Given the description of an element on the screen output the (x, y) to click on. 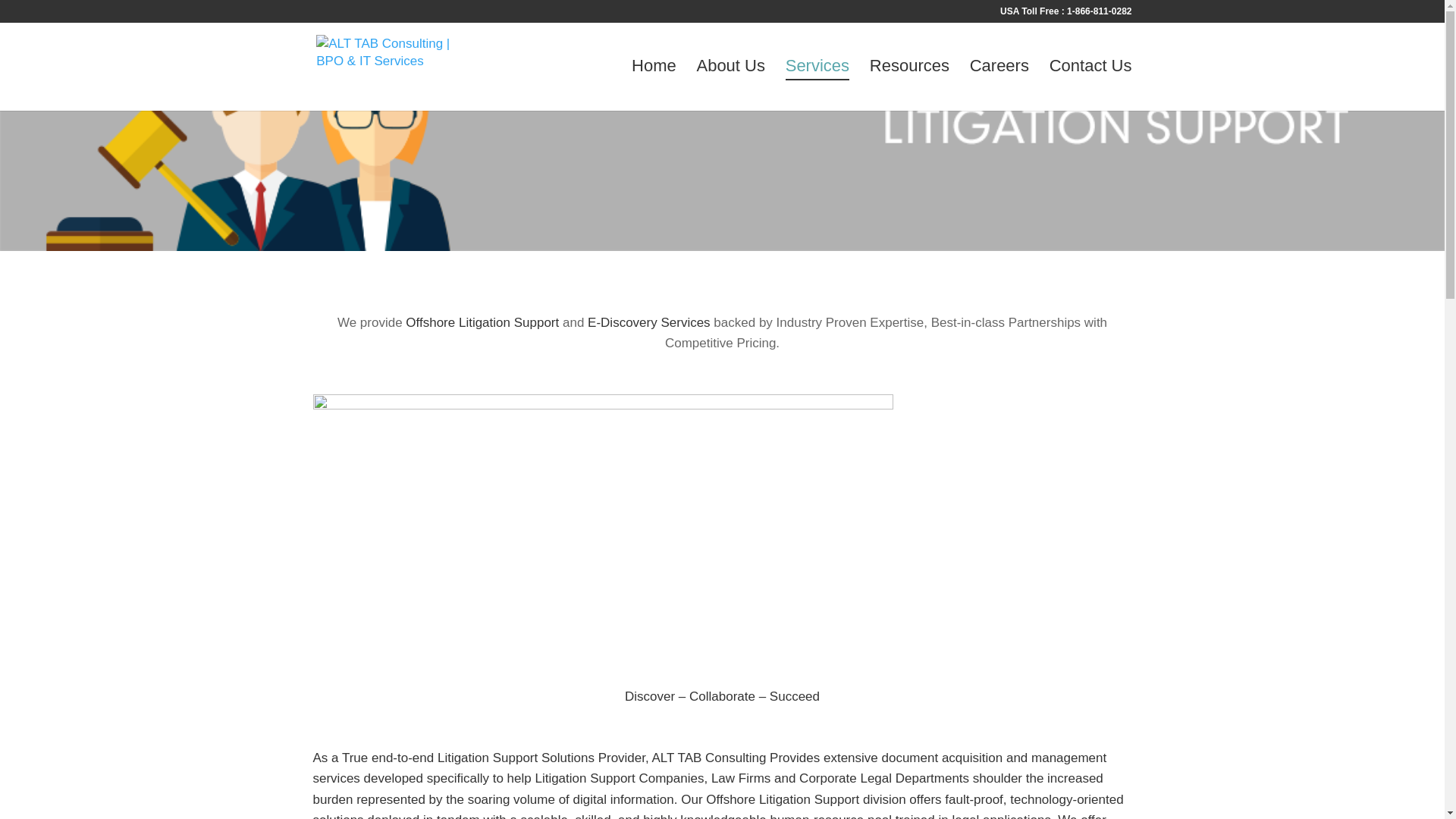
About Us (730, 69)
Services (817, 70)
Home (654, 69)
USA Toll Free : 1-866-811-0282 (1065, 14)
